Given the description of an element on the screen output the (x, y) to click on. 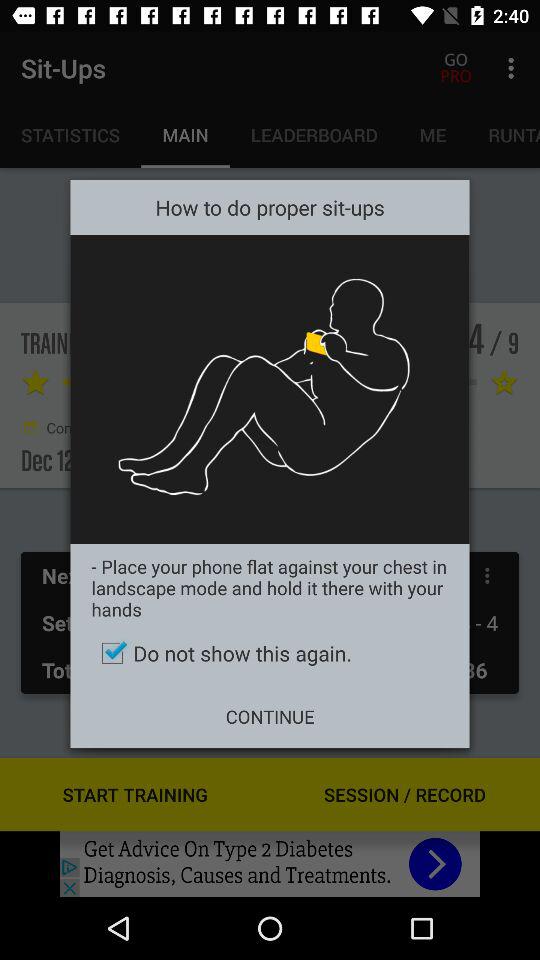
select app below place your phone app (269, 653)
